Given the description of an element on the screen output the (x, y) to click on. 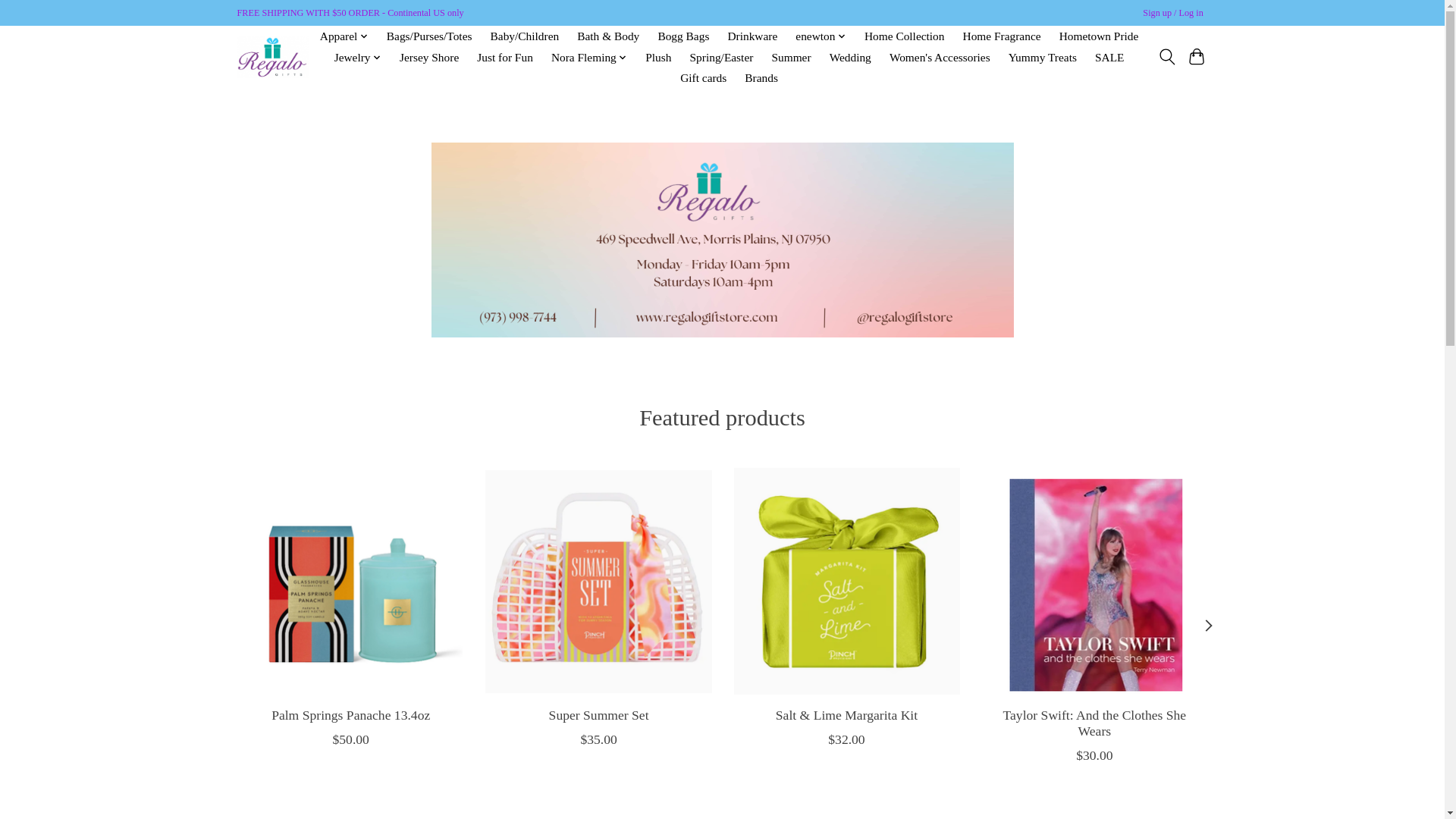
Hometown Pride (1097, 35)
Nora Fleming (589, 56)
Just for Fun (504, 56)
Regalo Gifts (271, 56)
Plush (658, 56)
Apparel (344, 35)
Bogg Bags (683, 35)
enewton (820, 35)
Home Collection (904, 35)
Jersey Shore (429, 56)
